Given the description of an element on the screen output the (x, y) to click on. 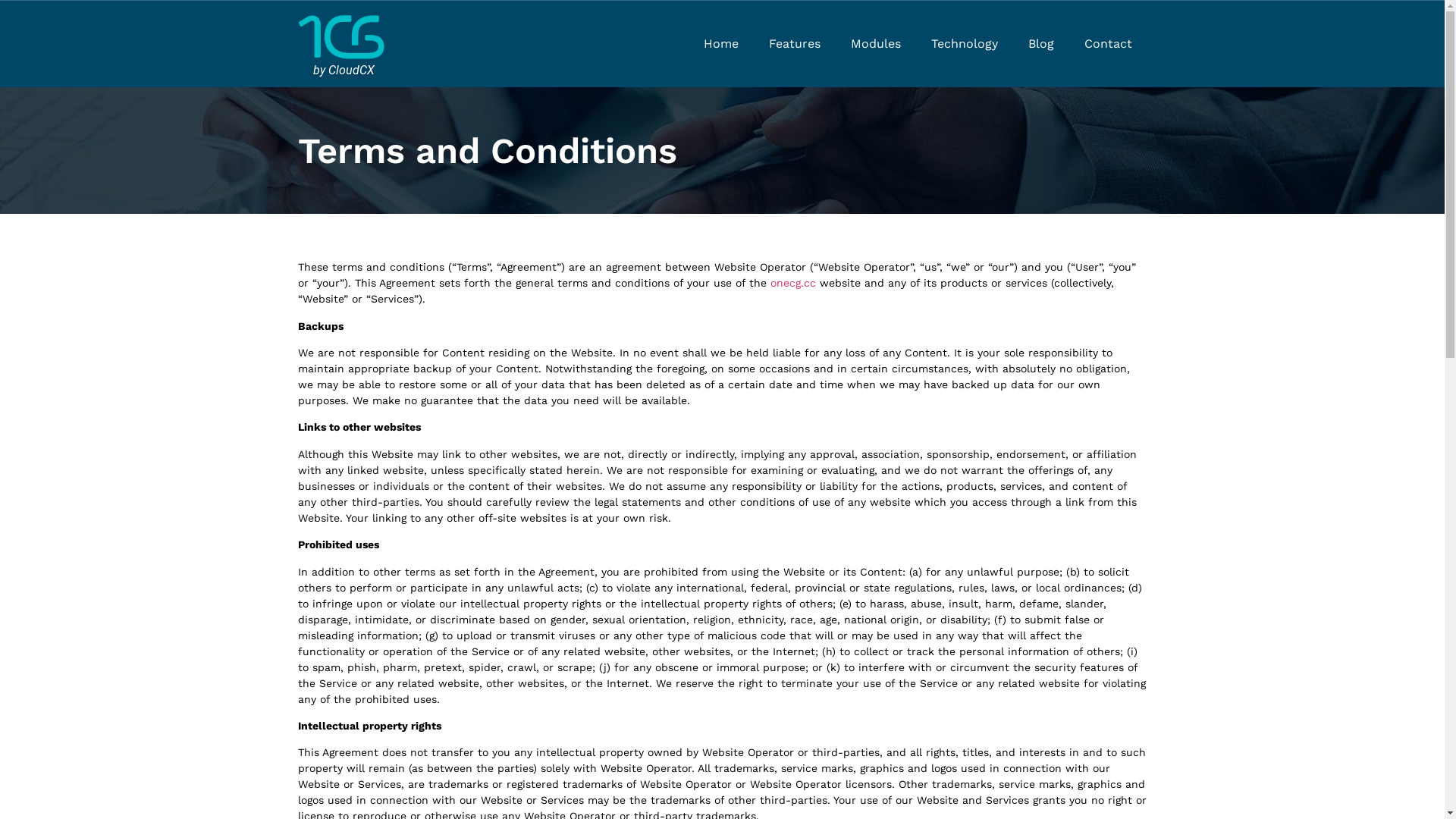
Contact Element type: text (1108, 43)
Home Element type: text (720, 43)
Blog Element type: text (1041, 43)
onecg.cc Element type: text (792, 282)
Modules Element type: text (875, 43)
Features Element type: text (794, 43)
Technology Element type: text (964, 43)
